Given the description of an element on the screen output the (x, y) to click on. 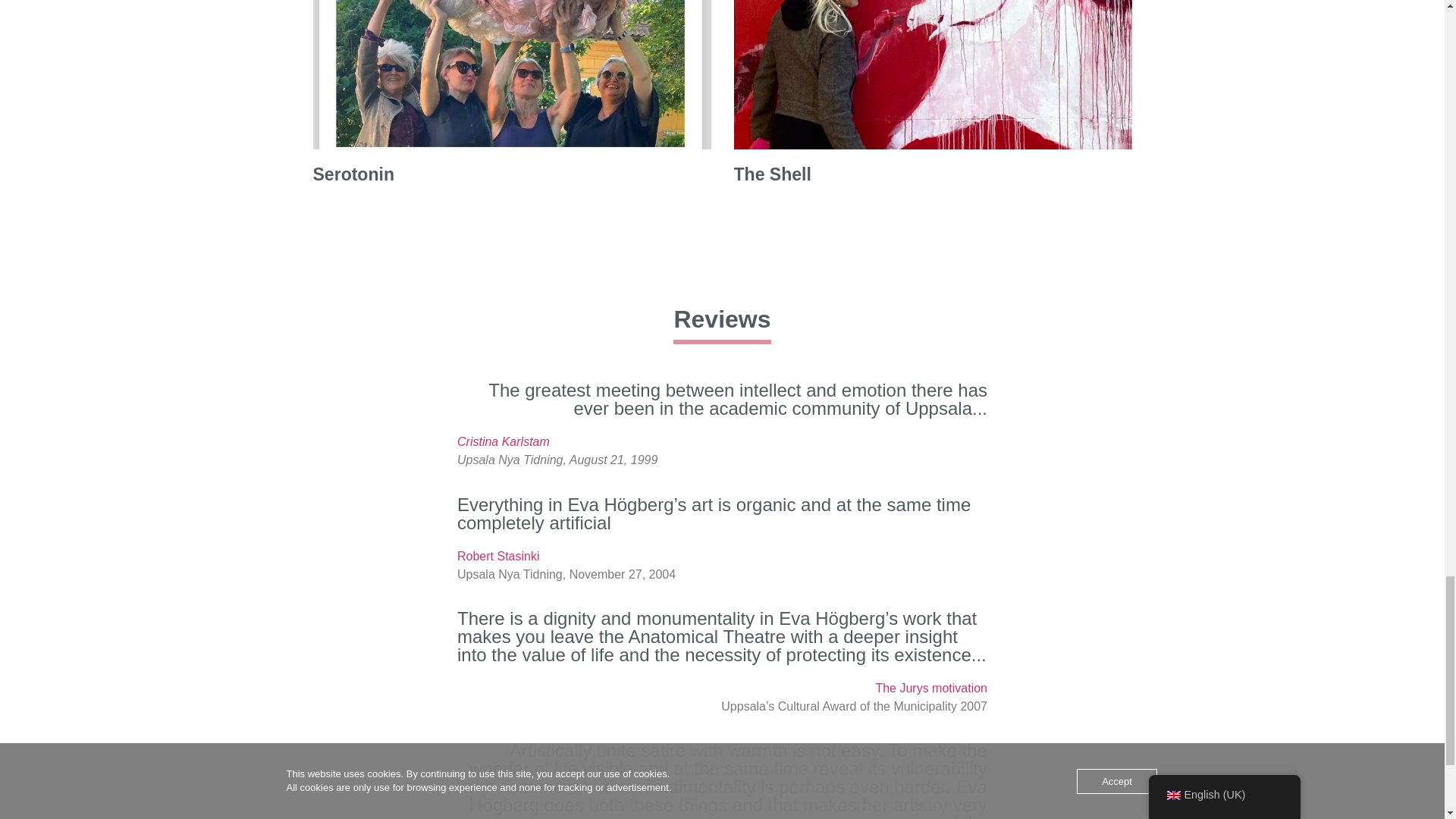
Cristina Karlstam (503, 440)
Robert Stasinki (498, 555)
Reviews (721, 318)
The Jurys motivation (931, 687)
The Shell (771, 174)
Serotonin (353, 174)
